Given the description of an element on the screen output the (x, y) to click on. 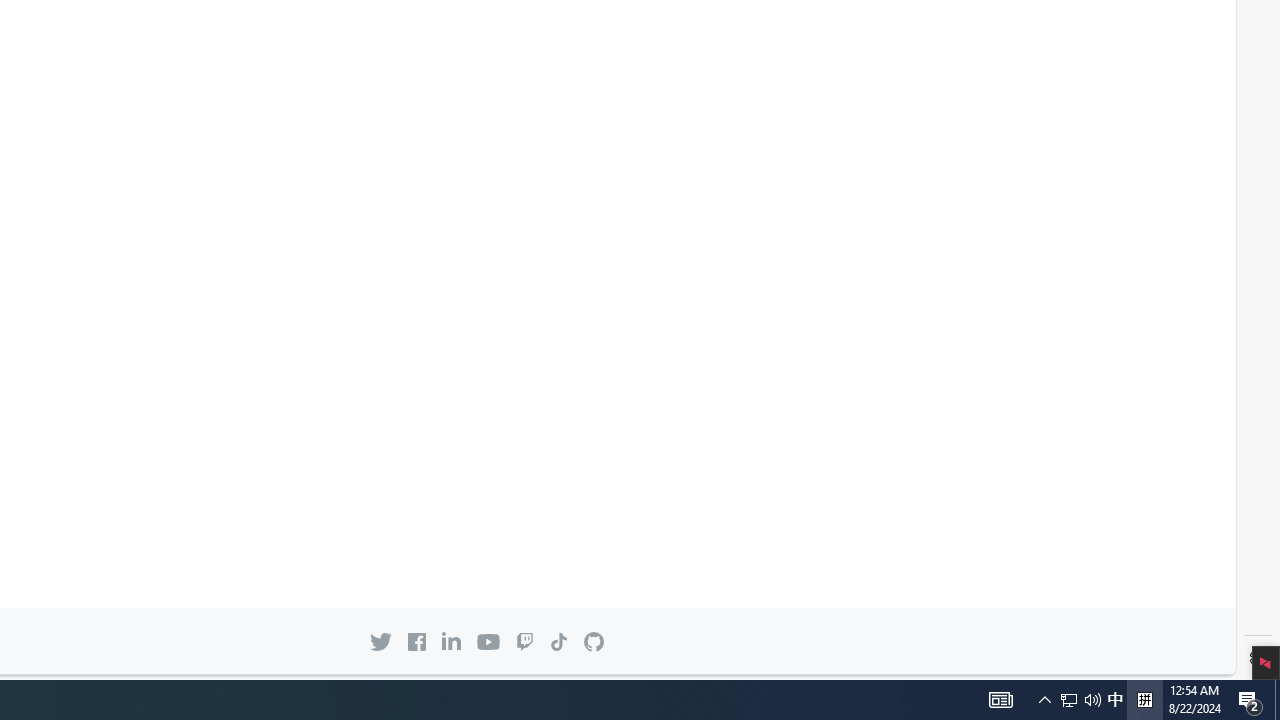
Twitter icon (380, 641)
Back to GitHub.com (593, 642)
YouTube icon (488, 642)
GitHub on YouTube (488, 642)
Class: mr-3 (417, 641)
GitHub on Twitch (524, 641)
TikTok icon GitHub on TikTok (559, 641)
YouTube icon GitHub on YouTube (488, 642)
Linkedin icon (450, 641)
Linkedin icon GitHub on LinkedIn (450, 641)
GitHub mark Back to GitHub.com (593, 642)
GitHub on LinkedIn (450, 641)
Twitch icon (524, 641)
Twitch icon GitHub on Twitch (524, 641)
GitHub on TikTok (559, 641)
